Given the description of an element on the screen output the (x, y) to click on. 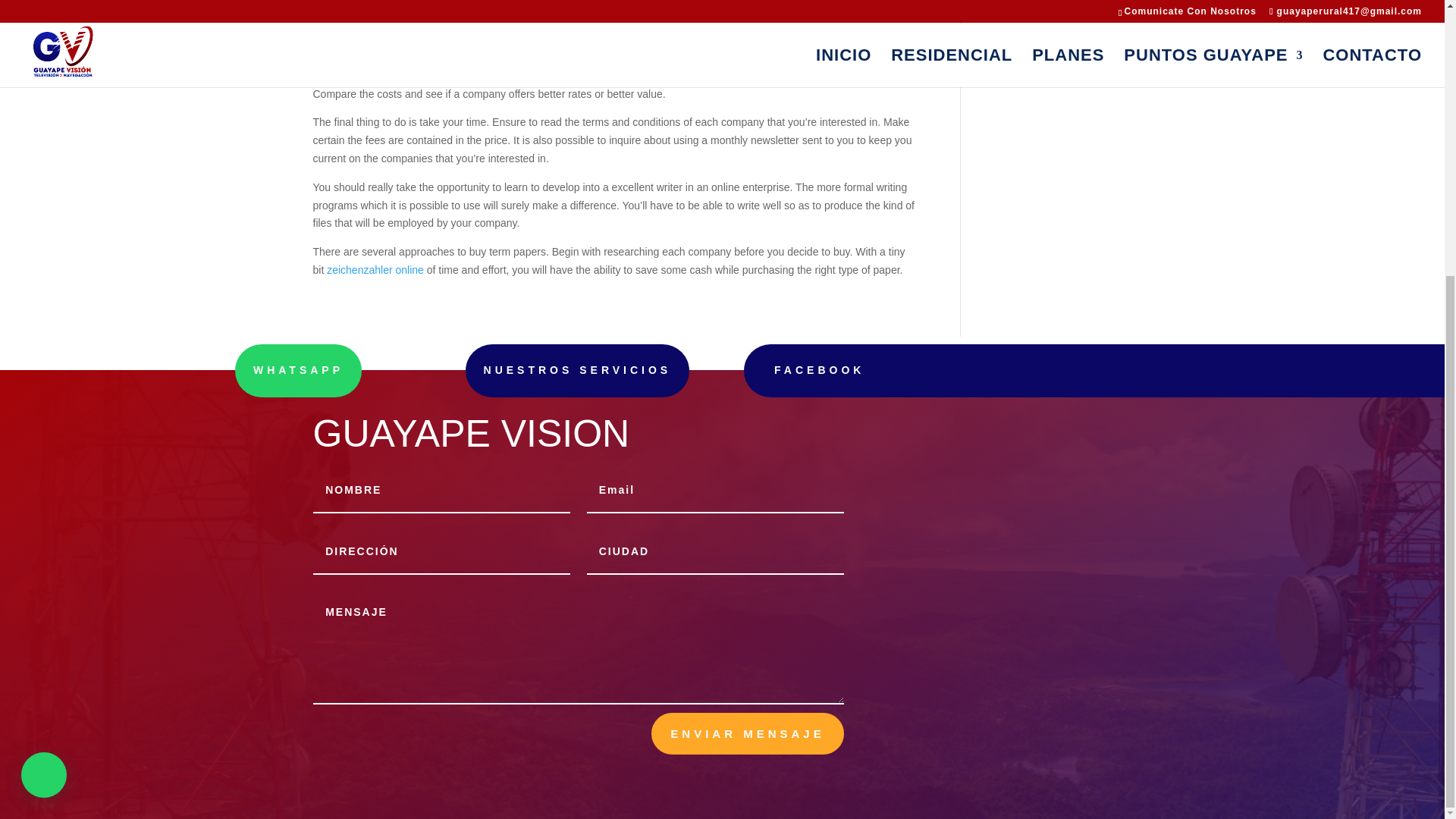
WHATSAPP (297, 370)
contador de palavras online (603, 19)
NUESTROS SERVICIOS (577, 370)
zeichenzahler online (374, 269)
ENVIAR MENSAJE (746, 733)
FACEBOOK (819, 369)
